Given the description of an element on the screen output the (x, y) to click on. 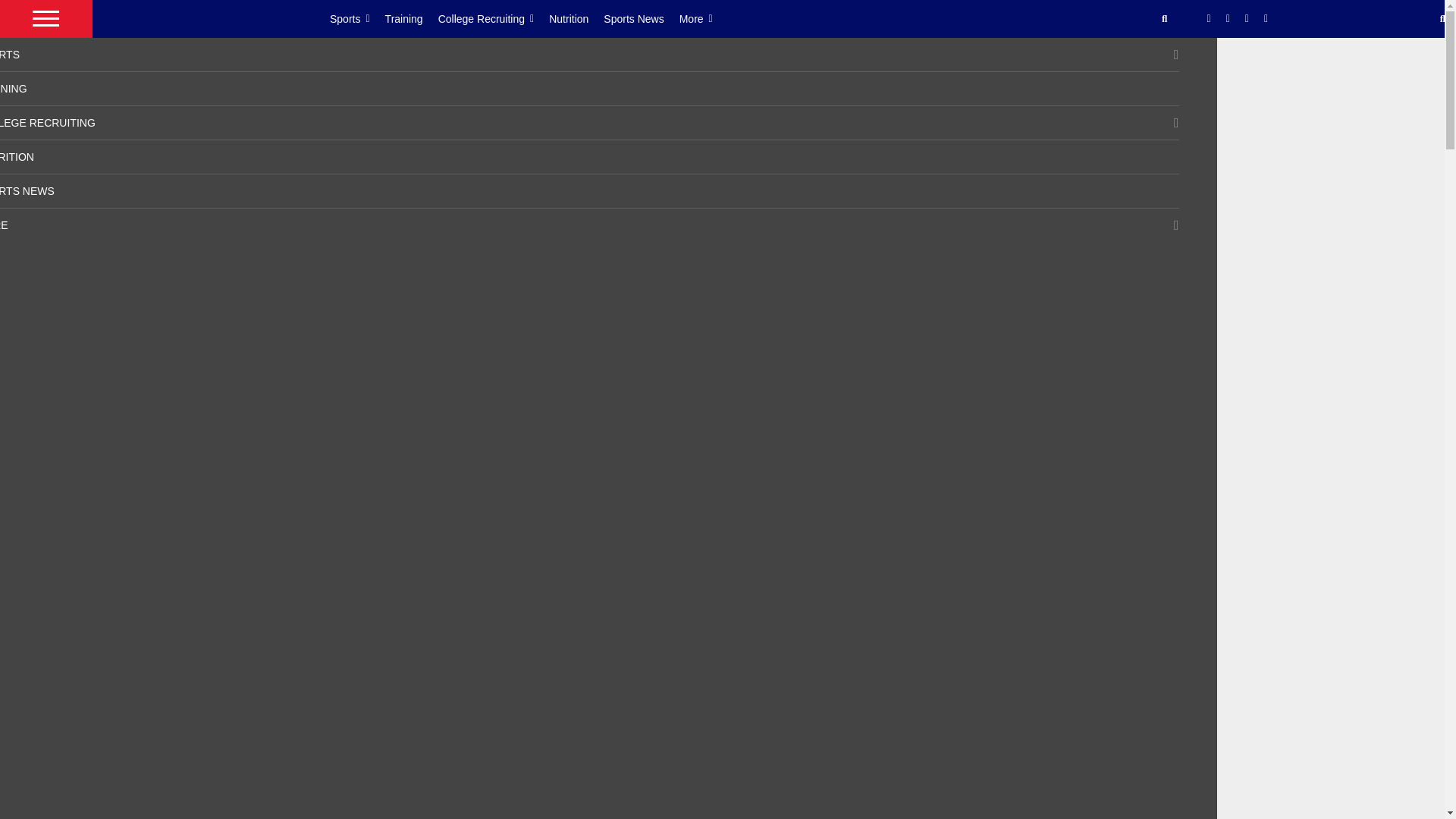
Training (411, 18)
Sports News (641, 18)
College Recruiting (494, 18)
Nutrition (576, 18)
SPORTS (10, 54)
Sports (357, 18)
More (703, 18)
